Given the description of an element on the screen output the (x, y) to click on. 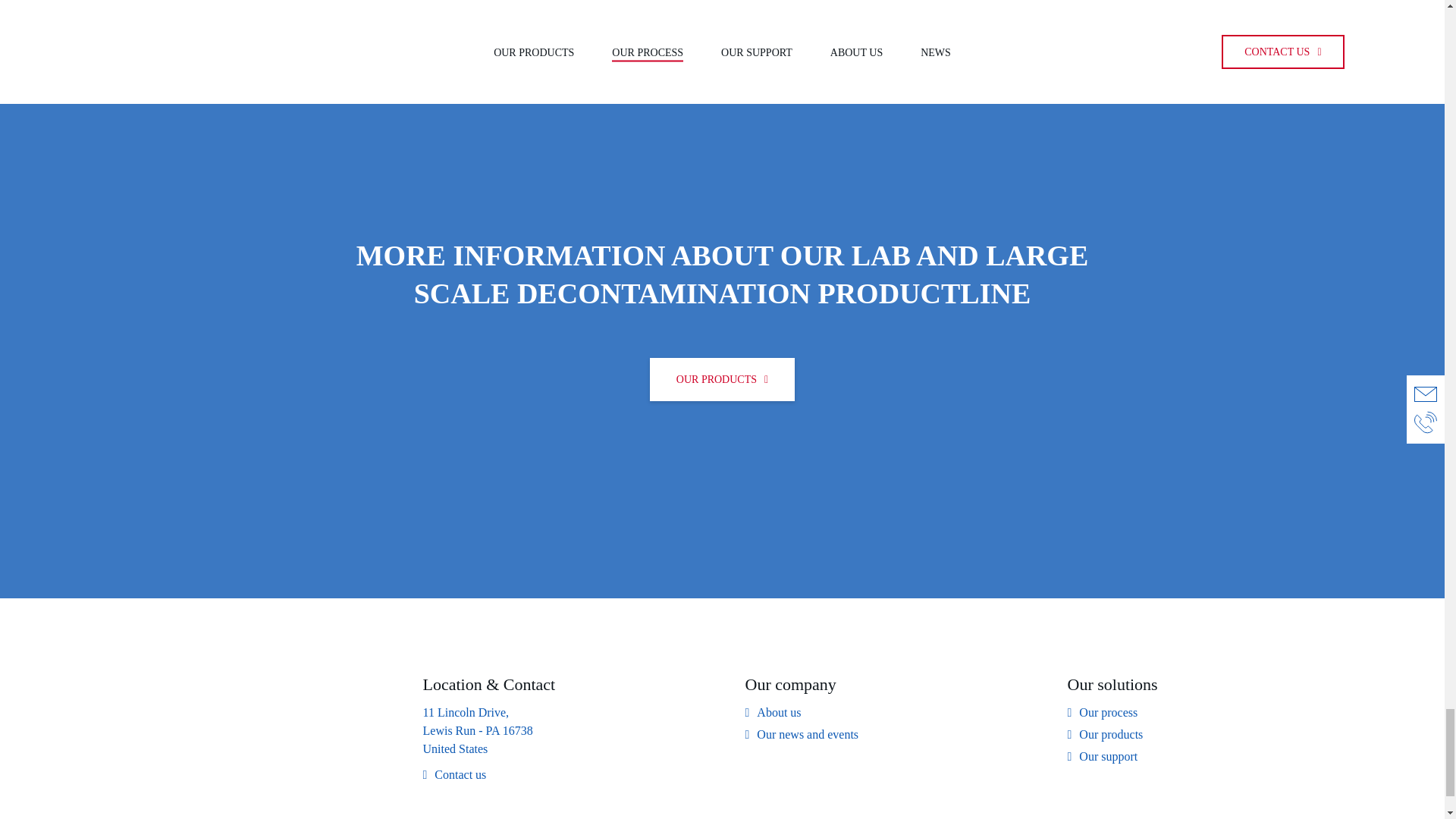
Our news and events (801, 734)
OUR PRODUCTS (721, 379)
Our products (1104, 734)
About us (772, 712)
Our process (1102, 712)
Contact us (454, 774)
Our support (1102, 756)
